Given the description of an element on the screen output the (x, y) to click on. 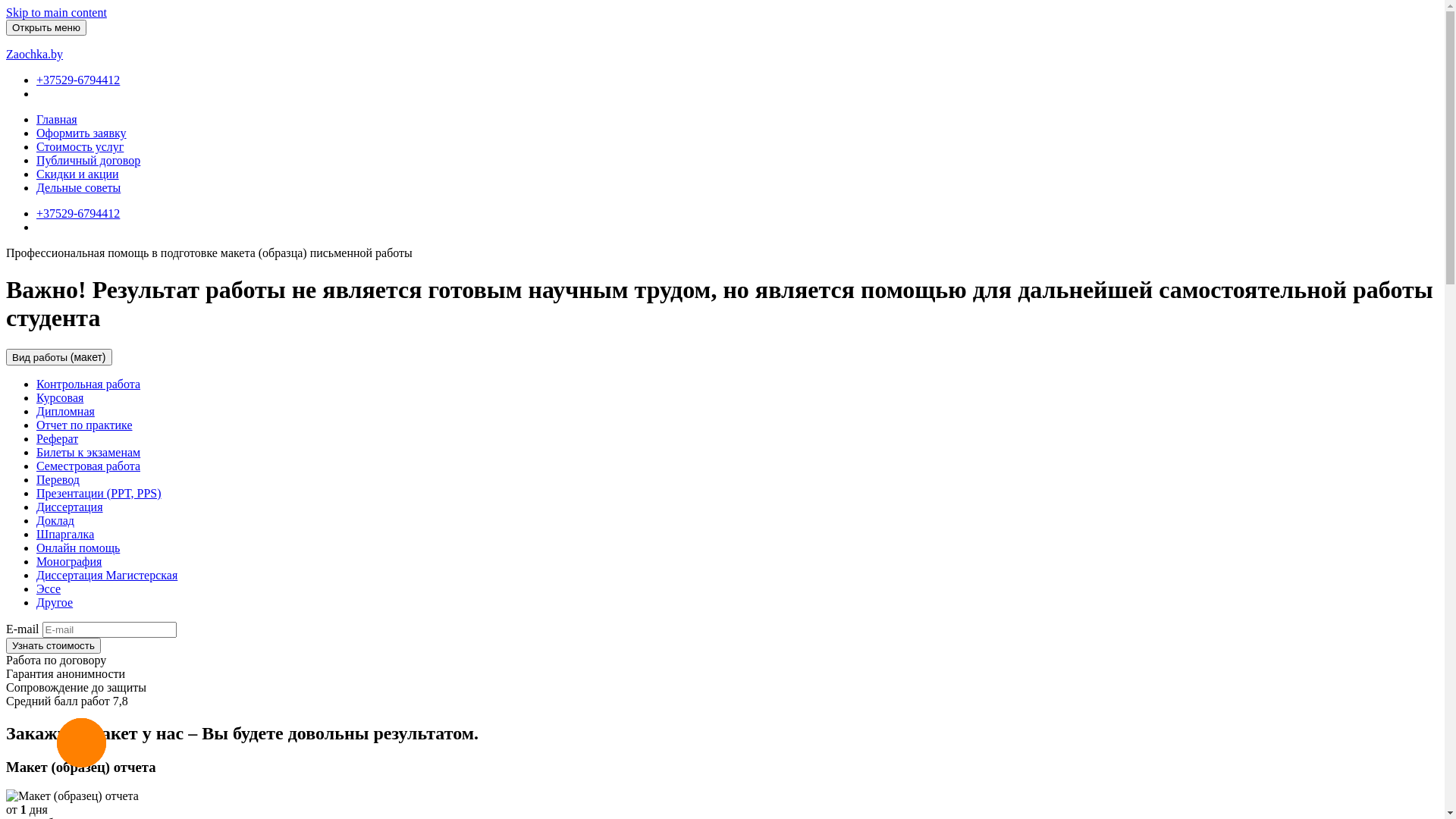
+37529-6794412 Element type: text (77, 213)
+37529-6794412 Element type: text (77, 79)
Skip to main content Element type: text (56, 12)
Zaochka.by Element type: text (34, 53)
